Given the description of an element on the screen output the (x, y) to click on. 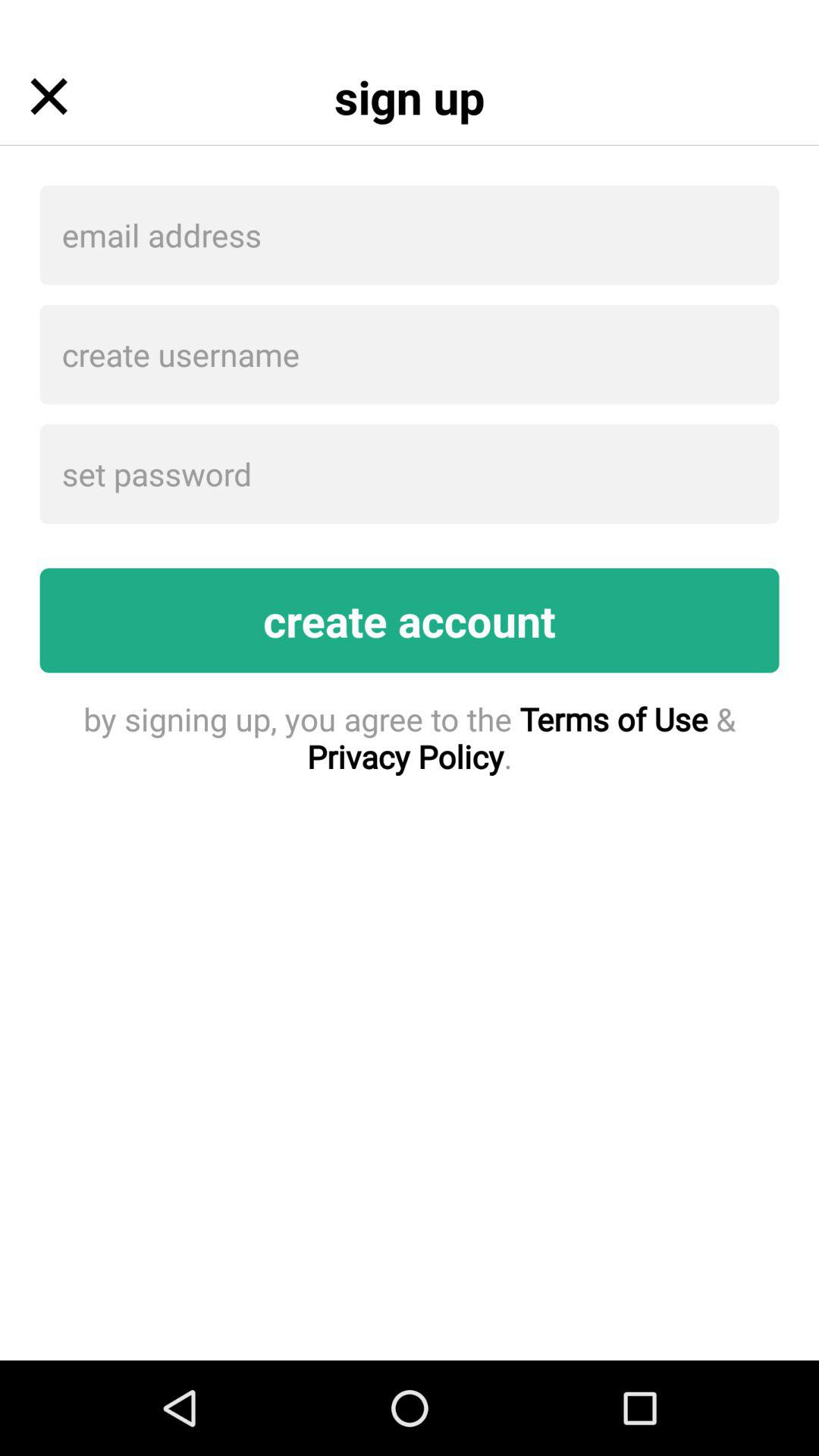
turn off item below the create account (409, 737)
